Given the description of an element on the screen output the (x, y) to click on. 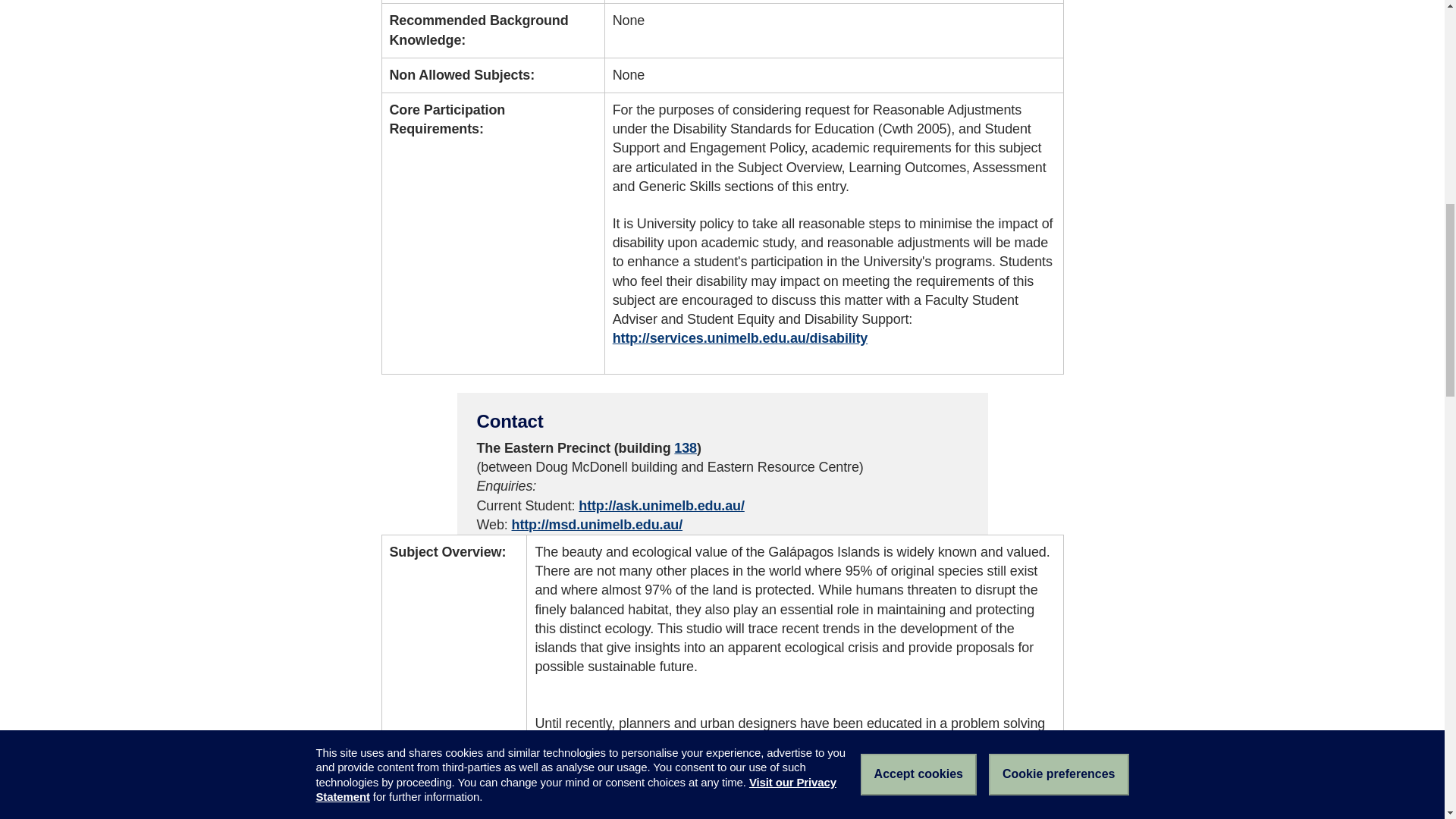
138 (685, 447)
